Given the description of an element on the screen output the (x, y) to click on. 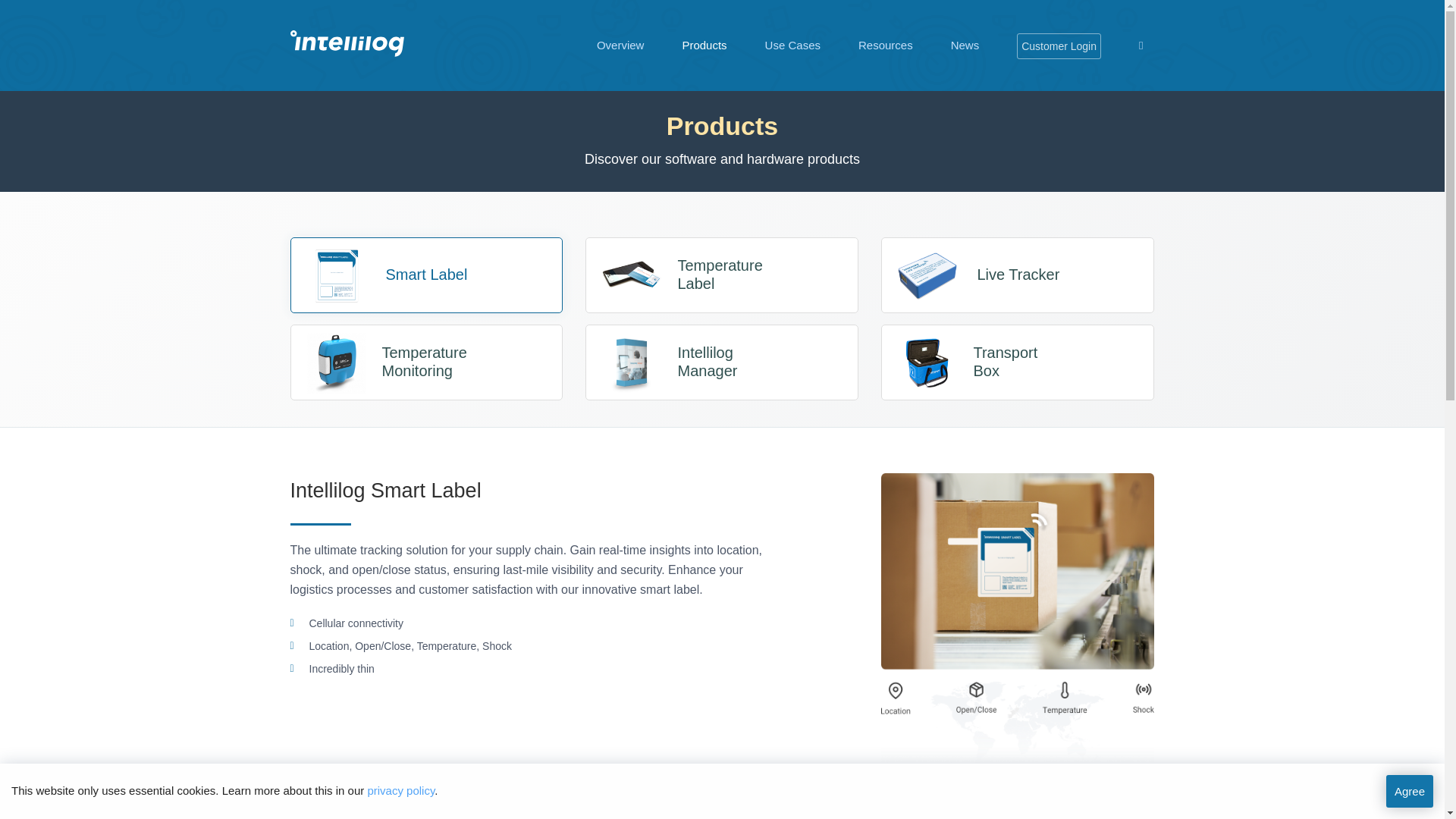
Products (703, 45)
Resources (722, 274)
Use Cases (885, 45)
Smart Label (793, 45)
Overview (425, 274)
Live Tracker (722, 362)
privacy policy (620, 45)
